Given the description of an element on the screen output the (x, y) to click on. 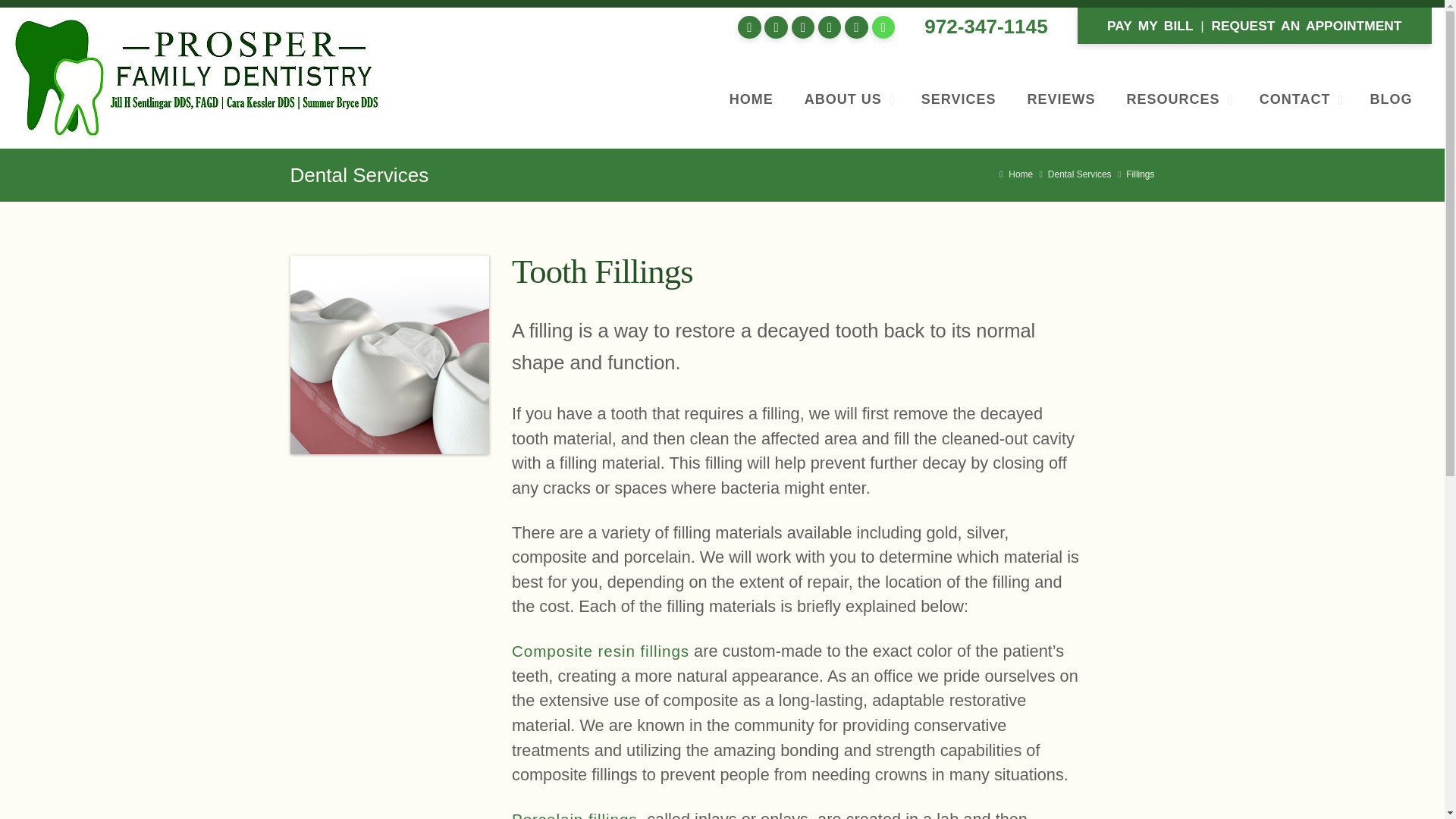
972-347-1145 (986, 26)
Dental Services (1080, 173)
SERVICES (958, 98)
REVIEWS (1061, 98)
REQUEST AN APPOINTMENT (1305, 25)
RESOURCES (1177, 98)
HOME (751, 98)
ABOUT US (847, 98)
BLOG (1391, 98)
Home (1015, 173)
CONTACT (1299, 98)
PAY MY BILL (1149, 25)
